Given the description of an element on the screen output the (x, y) to click on. 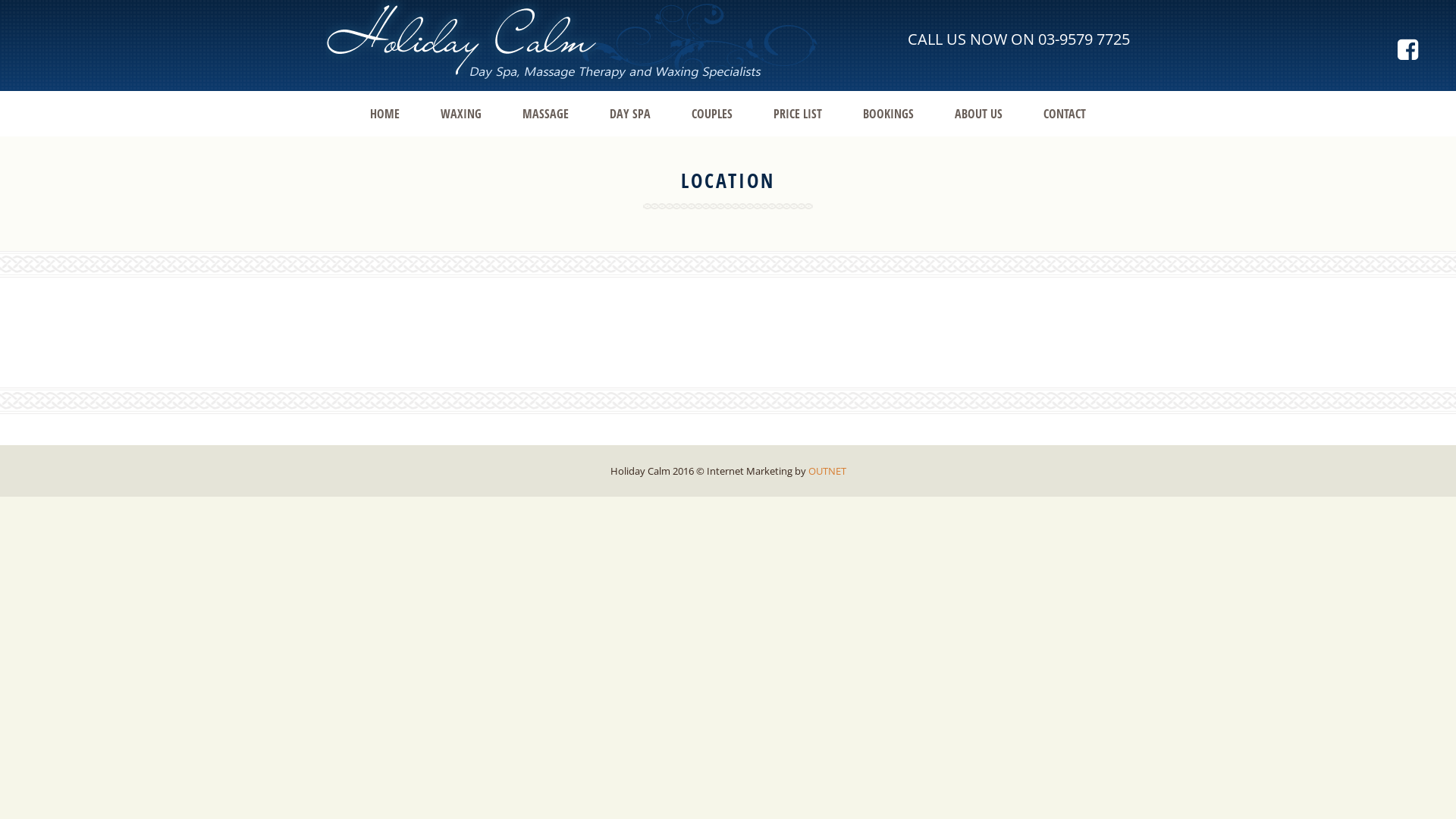
PRICE LIST Element type: text (797, 113)
ABOUT US Element type: text (978, 113)
MASSAGE Element type: text (545, 113)
DAY SPA Element type: text (629, 113)
BOOKINGS Element type: text (888, 113)
COUPLES Element type: text (711, 113)
WAXING Element type: text (460, 113)
HOME Element type: text (384, 113)
CONTACT Element type: text (1064, 113)
OUTNET Element type: text (827, 470)
